Given the description of an element on the screen output the (x, y) to click on. 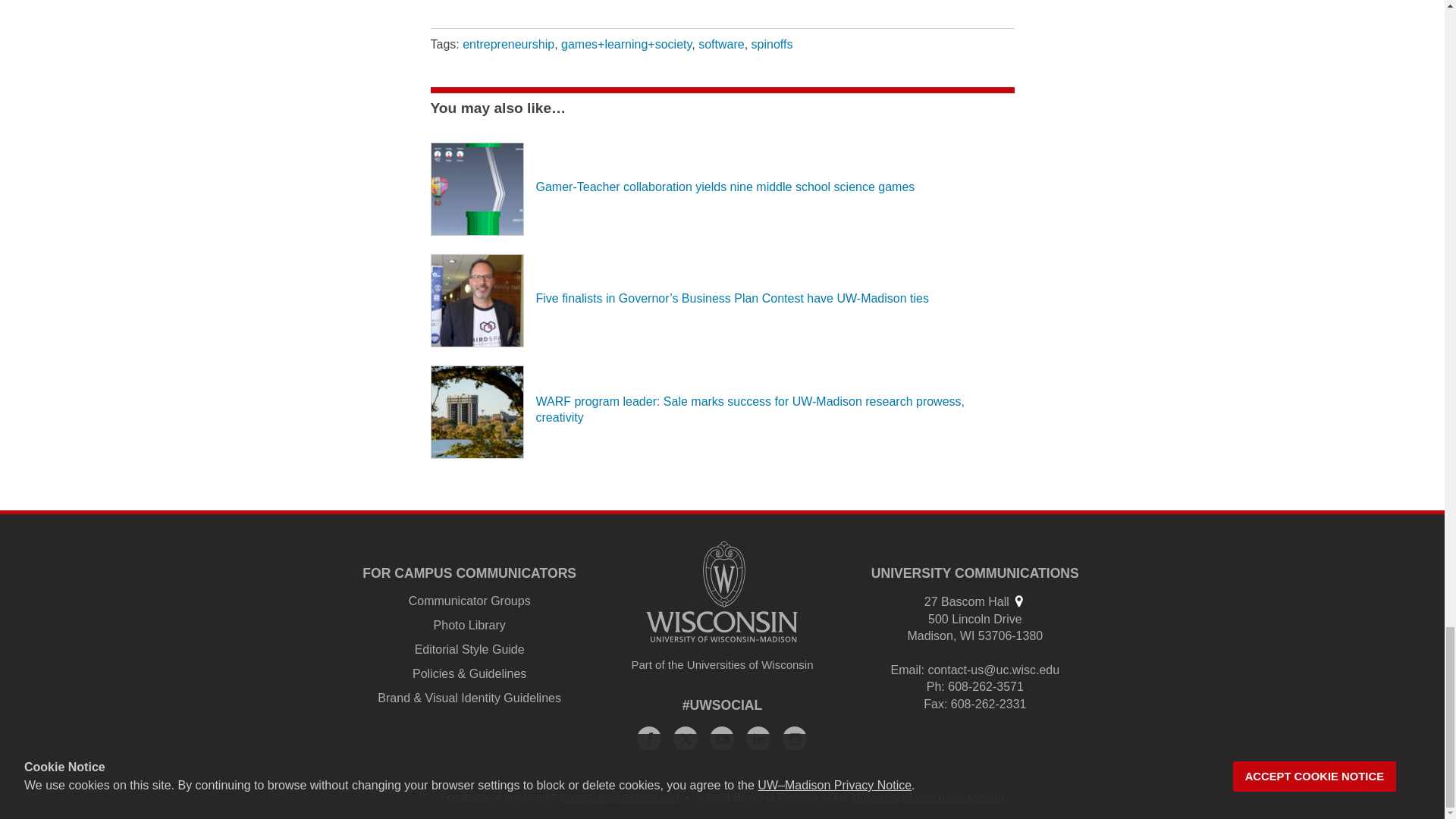
entrepreneurship (508, 43)
Social media links (722, 704)
YouTube (721, 738)
Linked In (757, 738)
Instagram (794, 738)
Facebook (649, 738)
Wisconsin (967, 635)
University logo that links to main university website (721, 591)
spinoffs (772, 43)
View on campus map (1018, 600)
X, formerly Twitter (684, 738)
phone (934, 686)
software (721, 43)
